Given the description of an element on the screen output the (x, y) to click on. 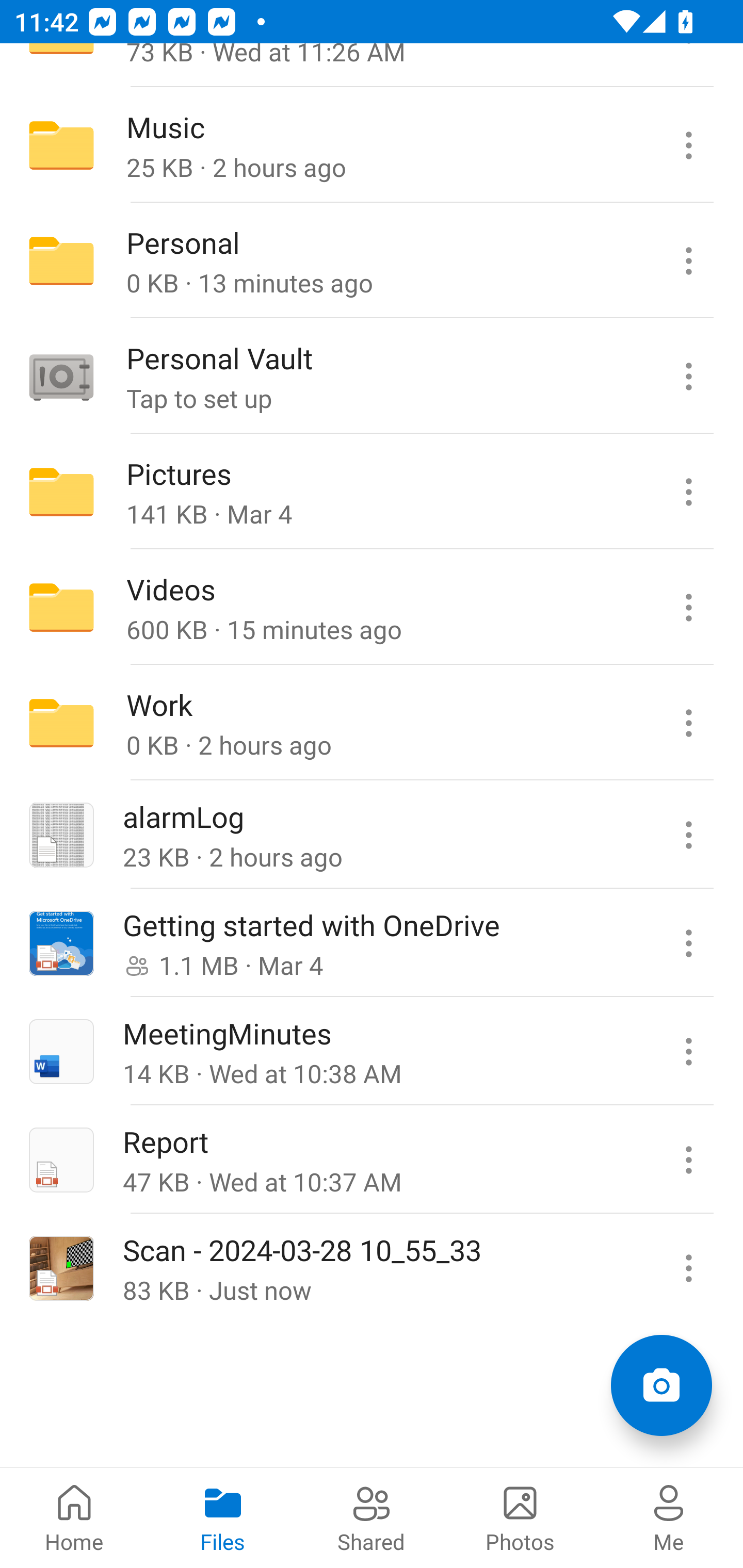
Folder Music 25 KB · 2 hours ago Music commands (371, 145)
Music commands (688, 145)
Personal commands (688, 260)
Personal Vault commands (688, 376)
Folder Pictures 141 KB · Mar 4 Pictures commands (371, 492)
Pictures commands (688, 492)
Videos commands (688, 607)
Folder Work 0 KB · 2 hours ago Work commands (371, 722)
Work commands (688, 722)
alarmLog commands (688, 834)
Getting started with OneDrive commands (688, 943)
MeetingMinutes commands (688, 1051)
Report commands (688, 1159)
Scan - 2024-03-28 10_55_33 commands (688, 1267)
Add items Scan (660, 1385)
Home pivot Home (74, 1517)
Shared pivot Shared (371, 1517)
Photos pivot Photos (519, 1517)
Me pivot Me (668, 1517)
